Given the description of an element on the screen output the (x, y) to click on. 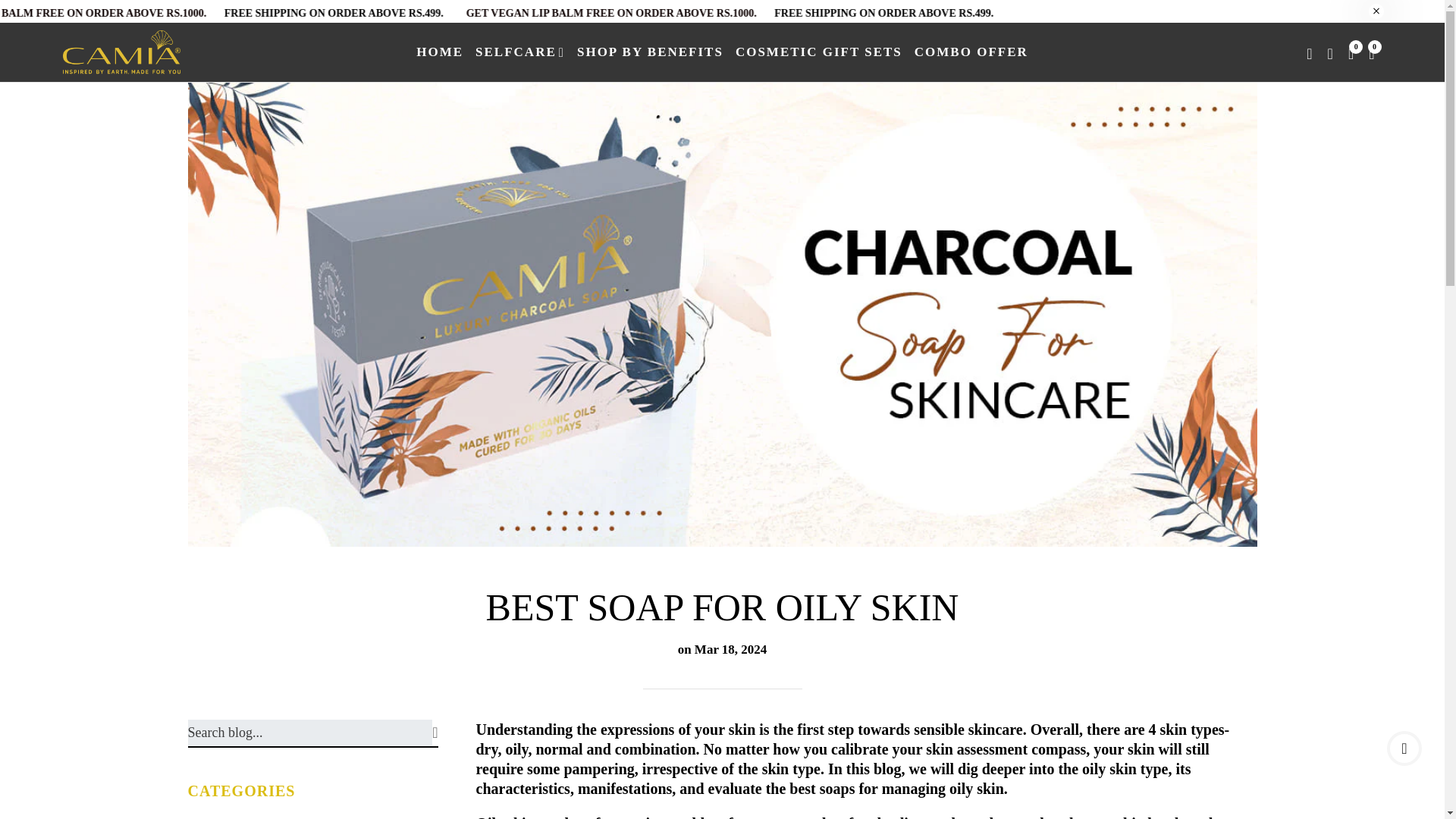
COSMETIC GIFT SETS (818, 52)
SELFCARE (520, 52)
SHOP BY BENEFITS (649, 52)
HOME (439, 52)
